Given the description of an element on the screen output the (x, y) to click on. 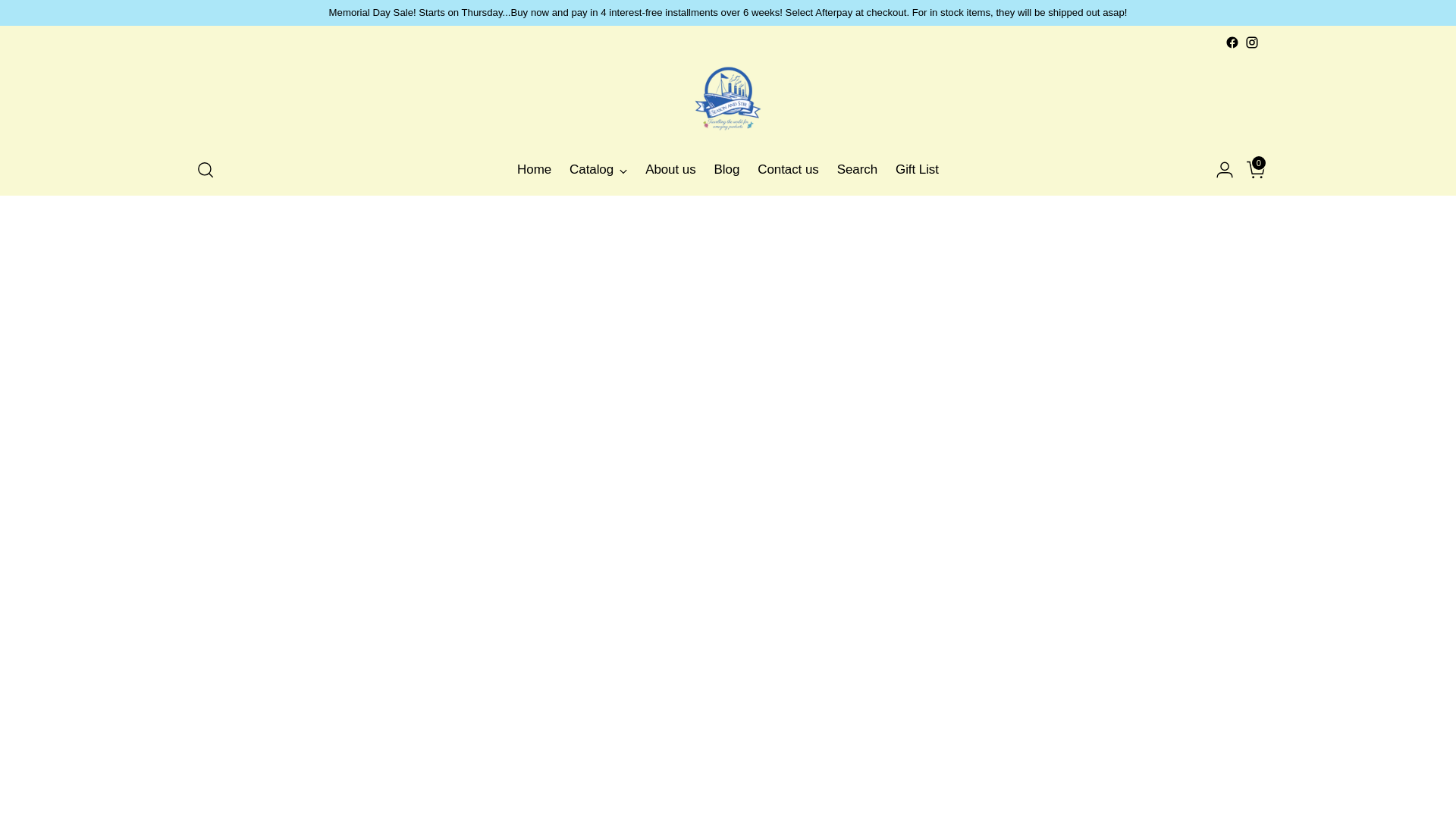
Home (533, 169)
Season and Stir on Instagram (1251, 42)
Search (857, 169)
0 (1249, 169)
Contact us (787, 169)
Catalog (727, 169)
About us (598, 169)
Gift List (670, 169)
Season and Stir on Facebook (917, 169)
